Given the description of an element on the screen output the (x, y) to click on. 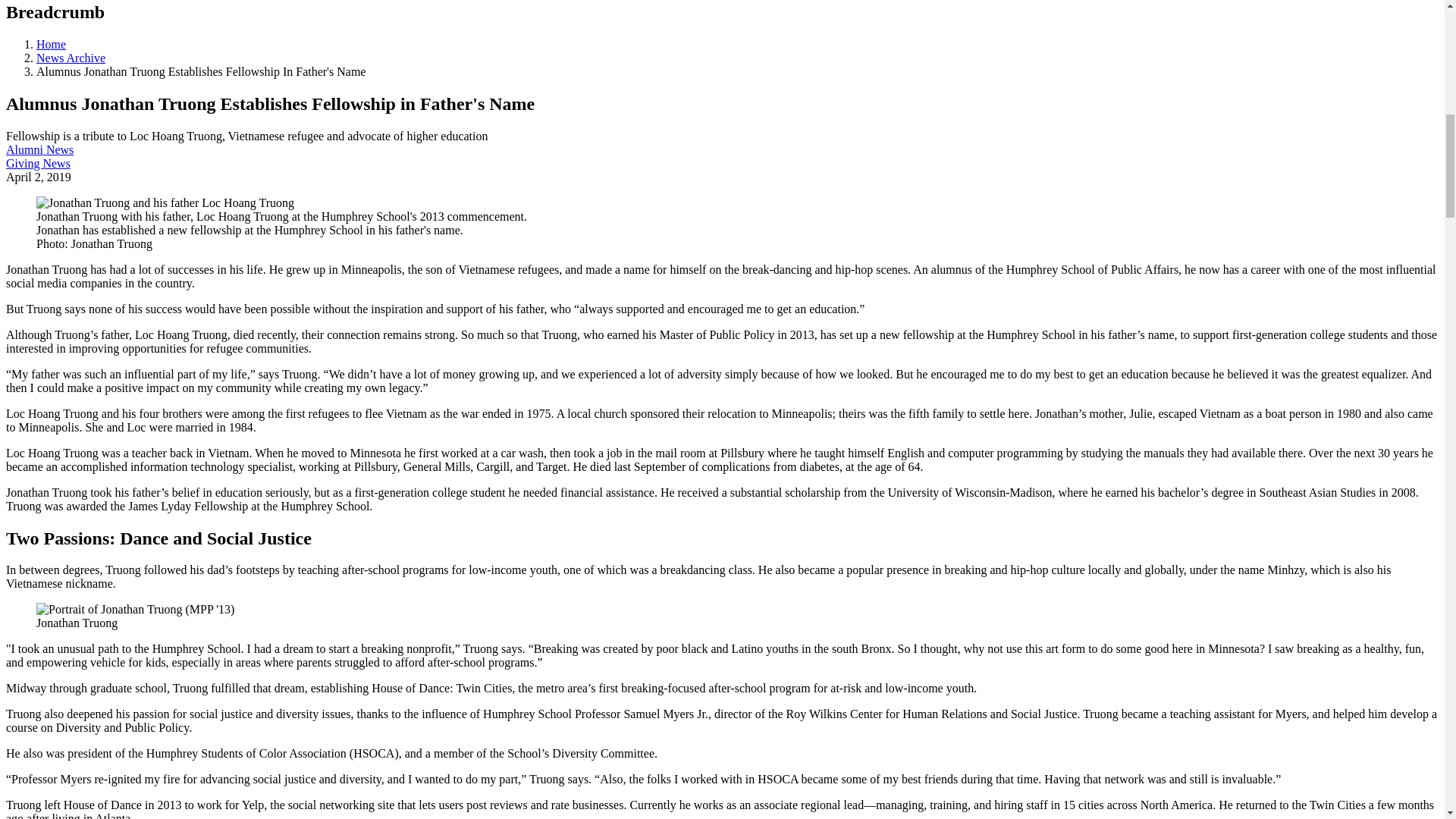
jonathan truong mpp2013-vertical (135, 609)
jonathan truong and father 2013-submitted-16x9 (165, 202)
